Given the description of an element on the screen output the (x, y) to click on. 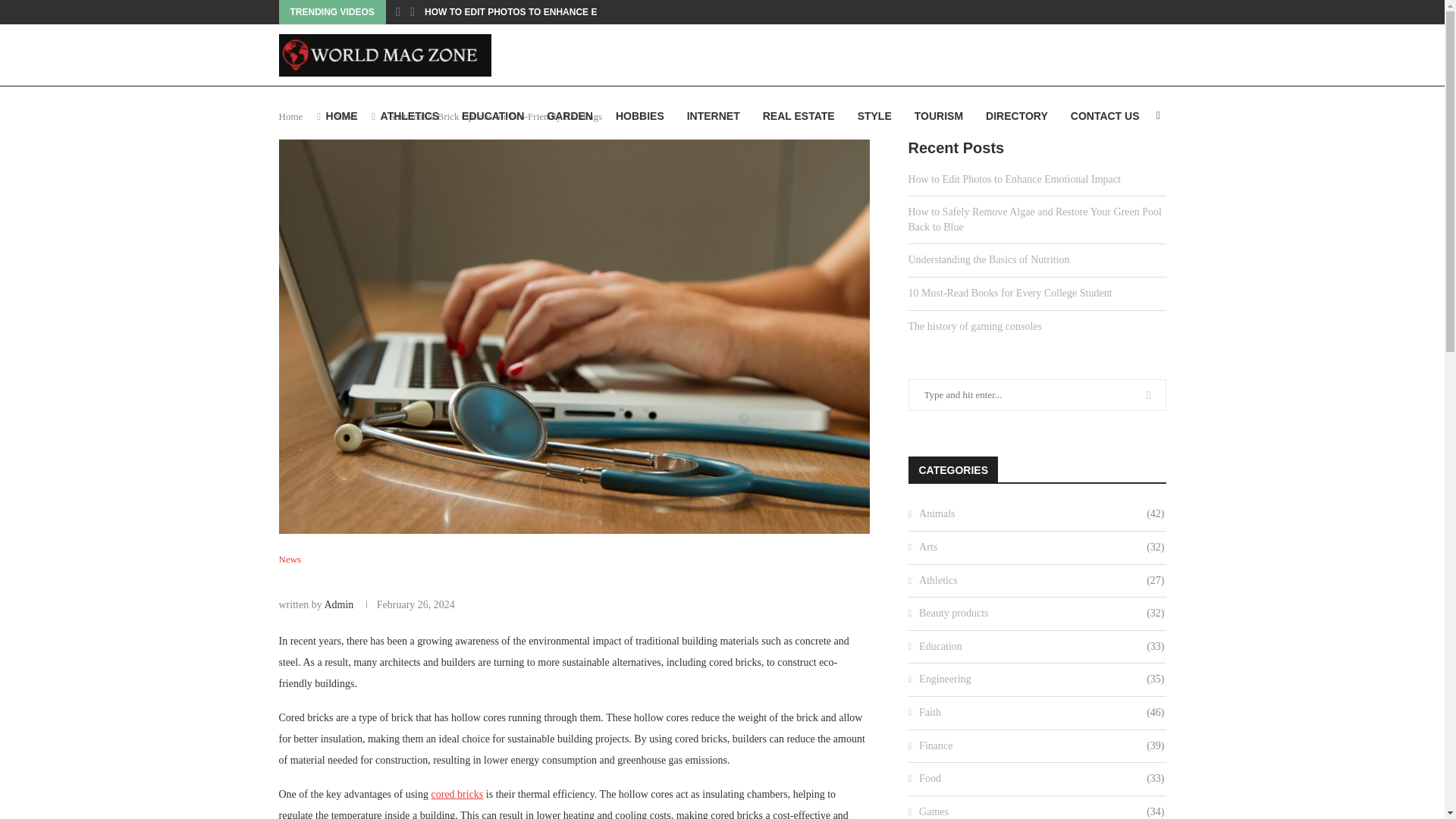
News (290, 559)
ATHLETICS (409, 115)
EDUCATION (492, 115)
Admin (338, 604)
DIRECTORY (1016, 115)
Home (290, 116)
REAL ESTATE (798, 115)
CONTACT US (1105, 115)
HOW TO EDIT PHOTOS TO ENHANCE EMOTIONAL IMPACT (553, 12)
cored bricks (456, 794)
News (346, 116)
